Given the description of an element on the screen output the (x, y) to click on. 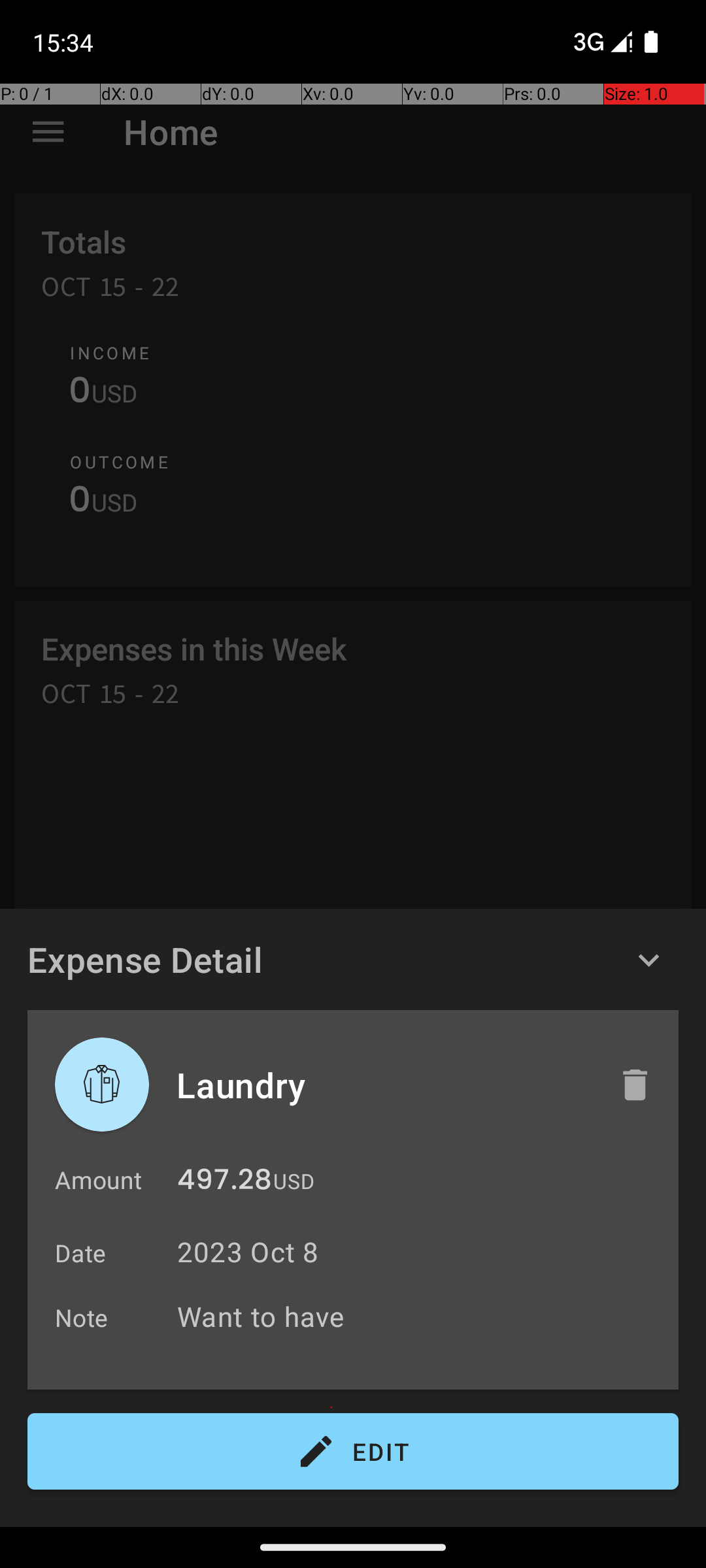
Laundry Element type: android.widget.TextView (383, 1084)
497.28 Element type: android.widget.TextView (224, 1182)
2023 Oct 8 Element type: android.widget.TextView (247, 1251)
Want to have Element type: android.widget.TextView (420, 1315)
